Given the description of an element on the screen output the (x, y) to click on. 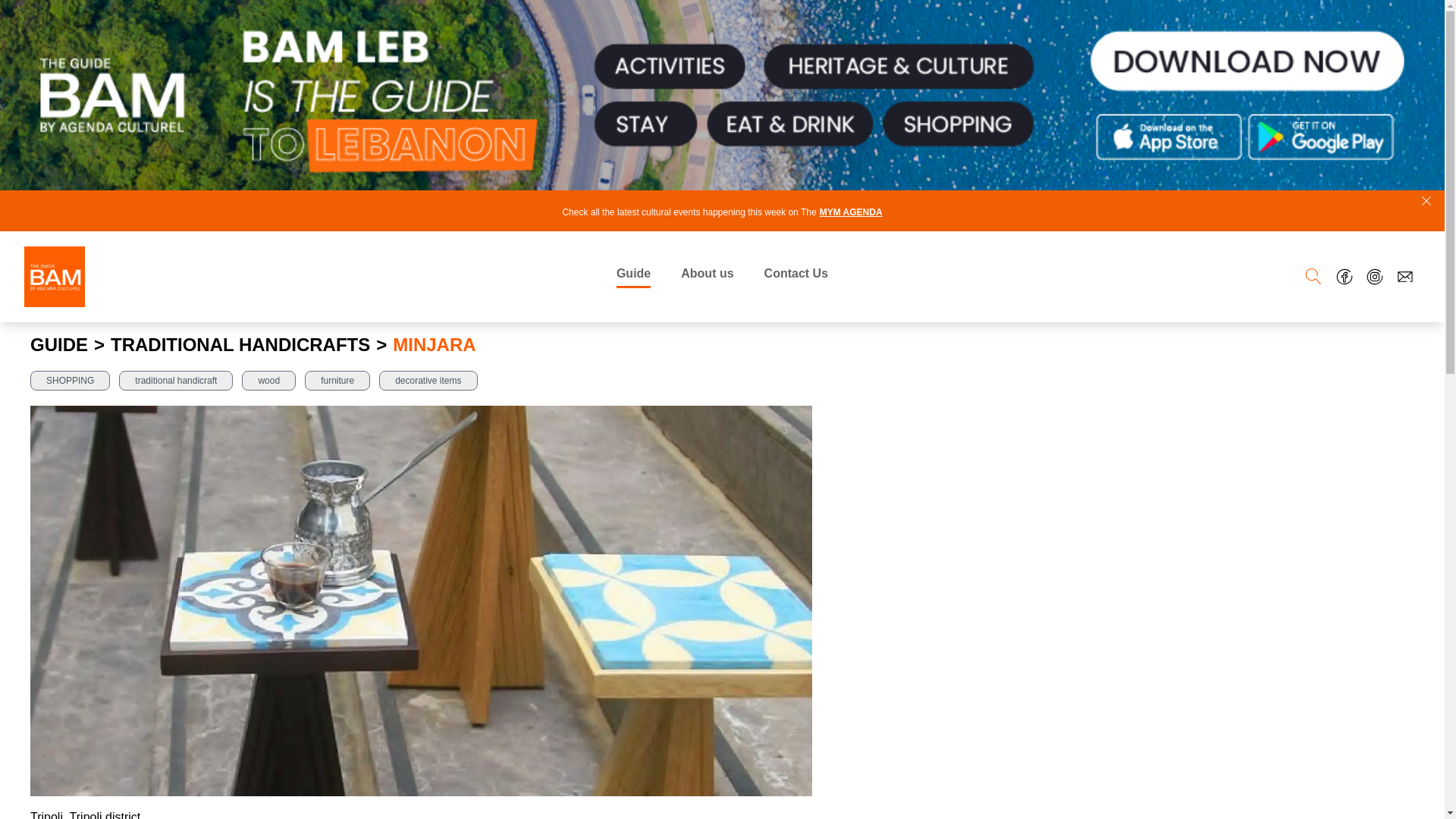
Guide (632, 276)
GUIDE (58, 344)
About us (707, 276)
MYM AGENDA (850, 212)
Contact Us (796, 276)
TRADITIONAL HANDICRAFTS (239, 344)
